Given the description of an element on the screen output the (x, y) to click on. 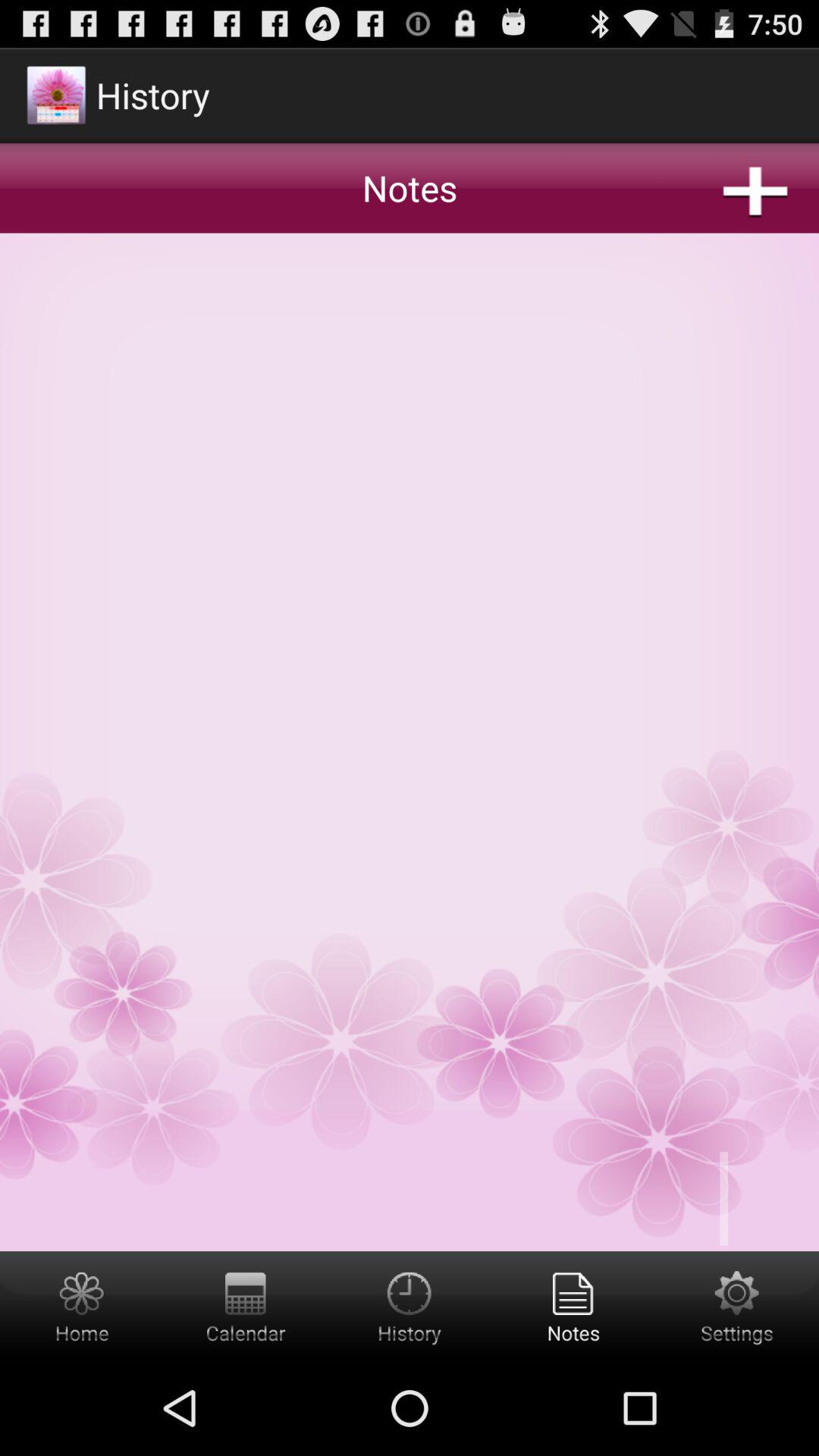
view calendar (245, 1305)
